Given the description of an element on the screen output the (x, y) to click on. 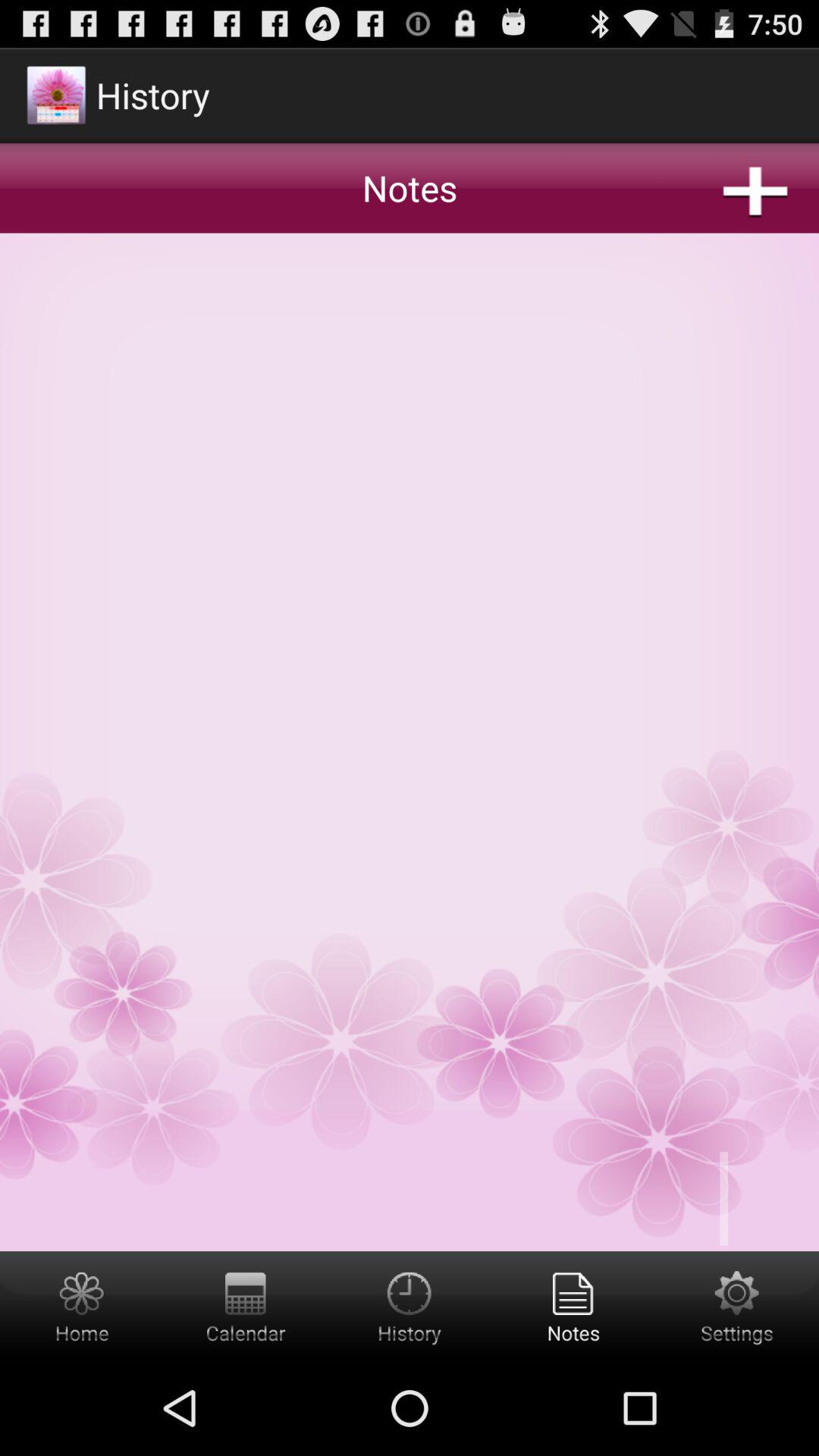
view calendar (245, 1305)
